Given the description of an element on the screen output the (x, y) to click on. 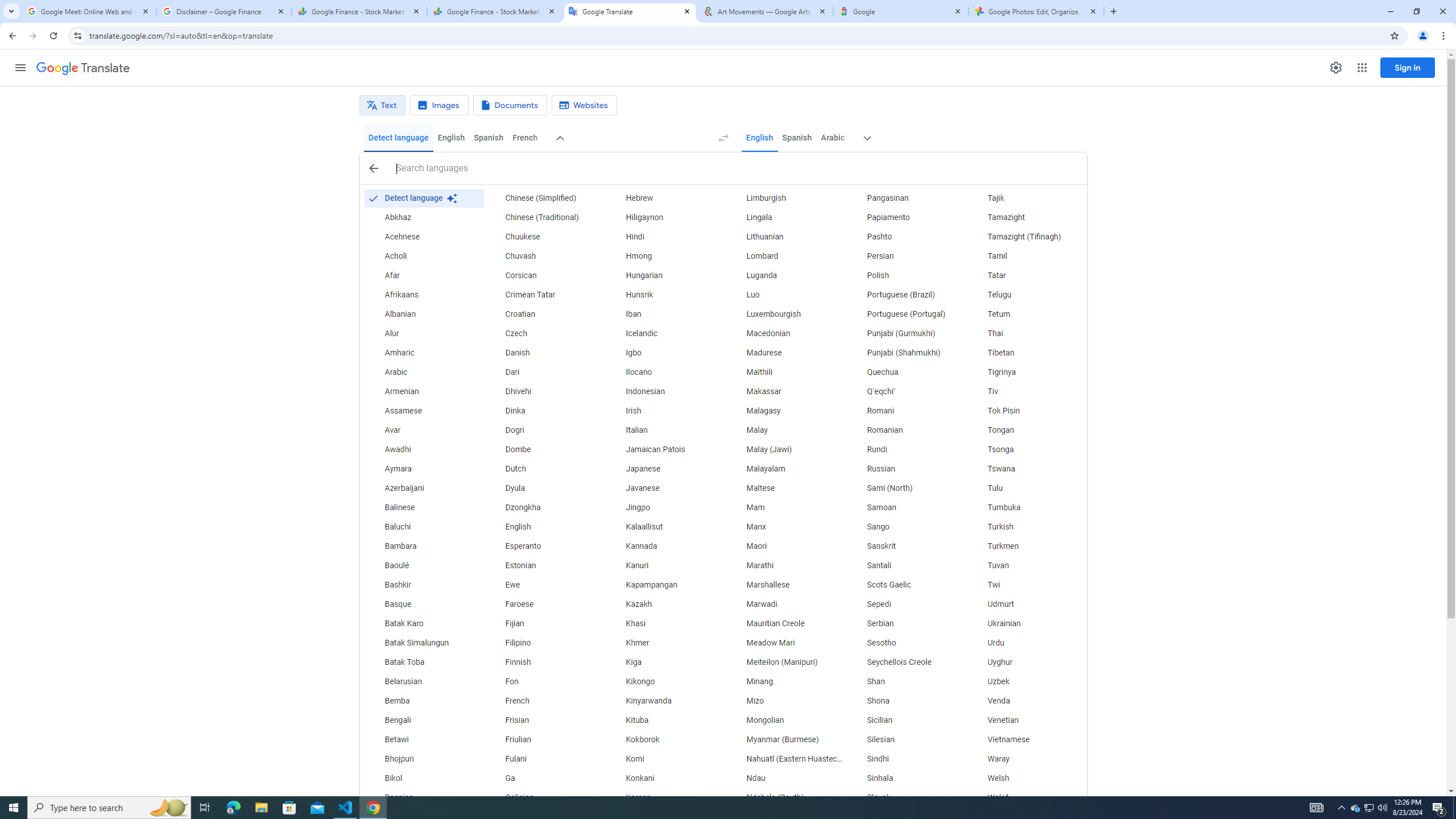
Venetian (1026, 720)
Close search (373, 167)
Tamazight (1026, 217)
Marathi (785, 565)
Portuguese (Portugal) (905, 314)
Papiamento (905, 217)
Hunsrik (665, 294)
Fijian (544, 624)
Dutch (544, 469)
Tongan (1026, 430)
Quechua (905, 372)
Ndebele (South) (785, 797)
Filipino (544, 642)
Ndau (785, 778)
Avar (423, 430)
